Given the description of an element on the screen output the (x, y) to click on. 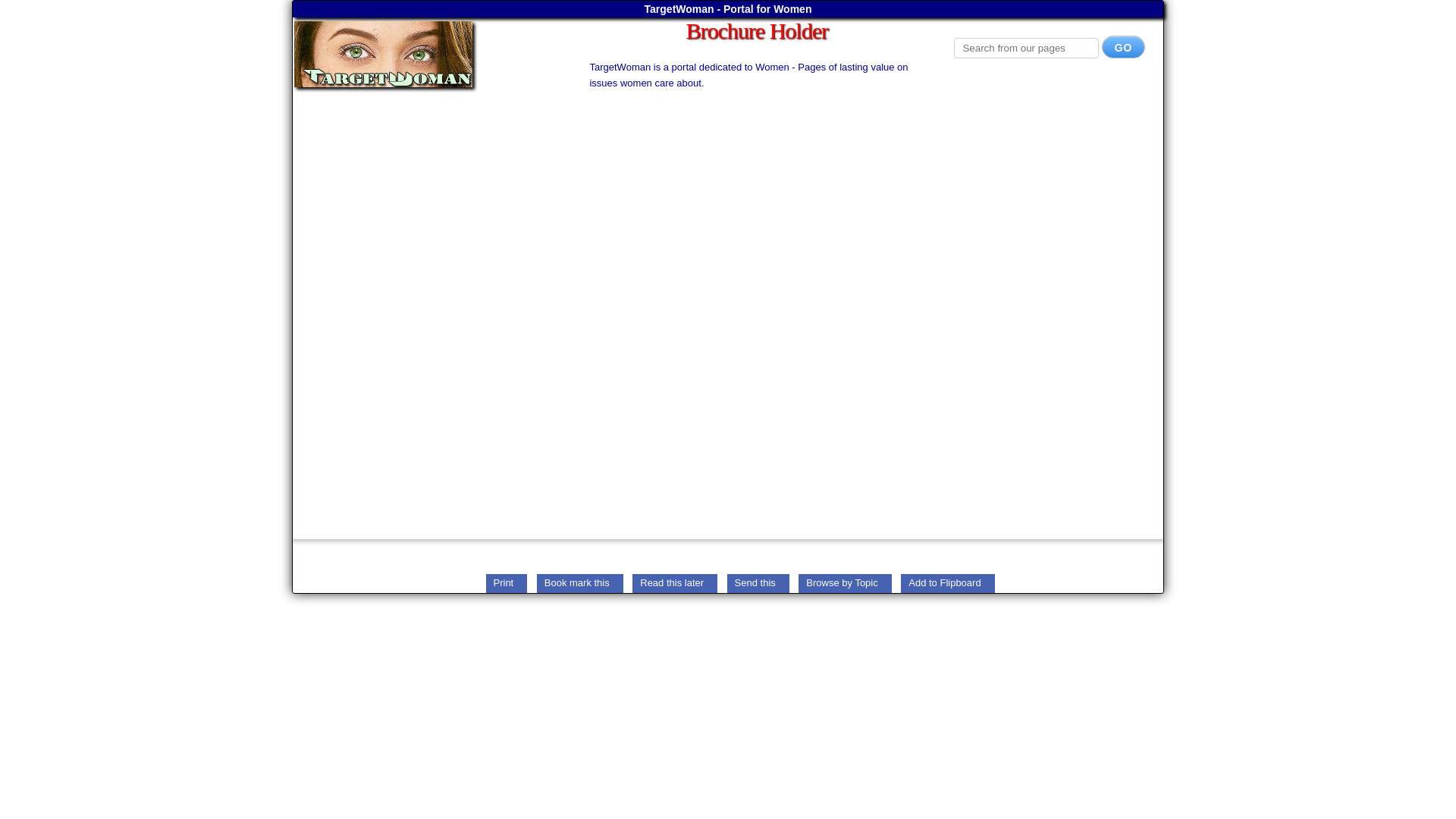
Print (505, 581)
Go (1123, 47)
Go (1123, 47)
TargetWoman - Informative Portal for Women (425, 53)
Read this later (674, 581)
Browse by Topic (844, 581)
Send this (757, 581)
Add to Flipboard (947, 581)
Book mark this (580, 581)
